Given the description of an element on the screen output the (x, y) to click on. 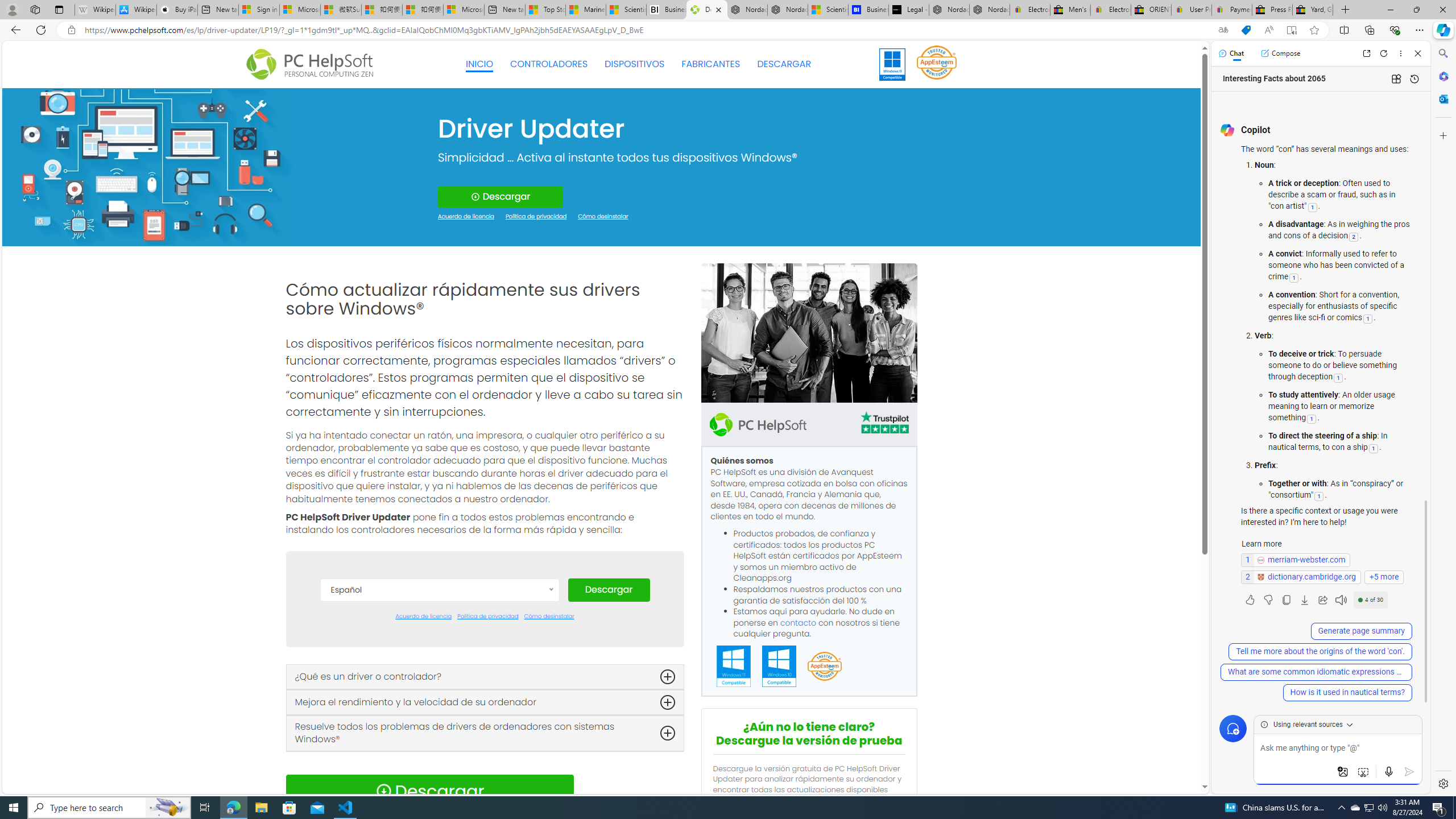
Top Stories - MSN (544, 9)
Buy iPad - Apple (176, 9)
CONTROLADORES (548, 64)
PCHelpsoft (757, 423)
Logo Personal Computing (313, 64)
Nederlands (439, 763)
DESCARGAR (783, 64)
